Given the description of an element on the screen output the (x, y) to click on. 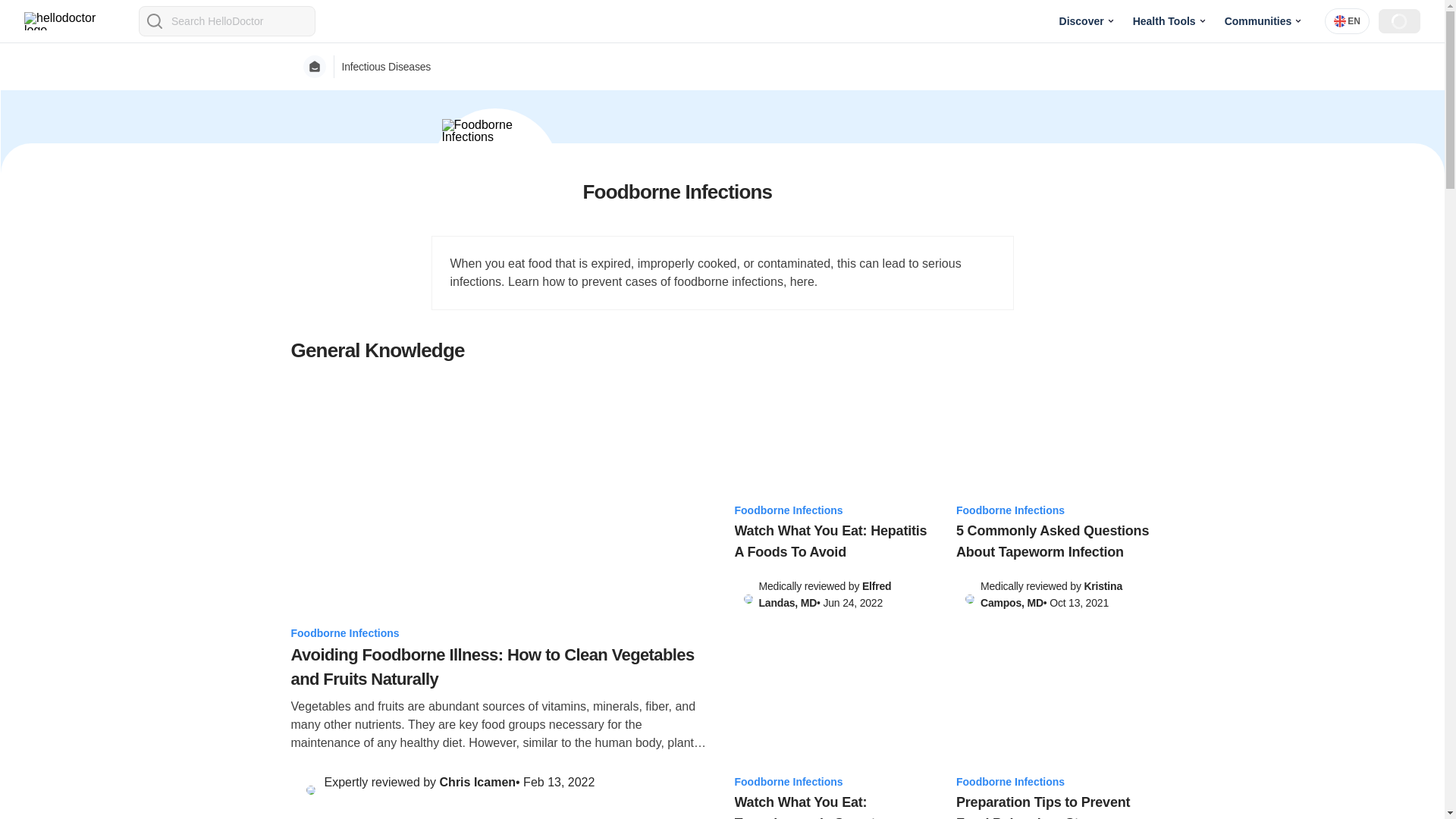
EN (1347, 21)
Infectious Diseases (385, 66)
Foodborne Infections (500, 632)
